Given the description of an element on the screen output the (x, y) to click on. 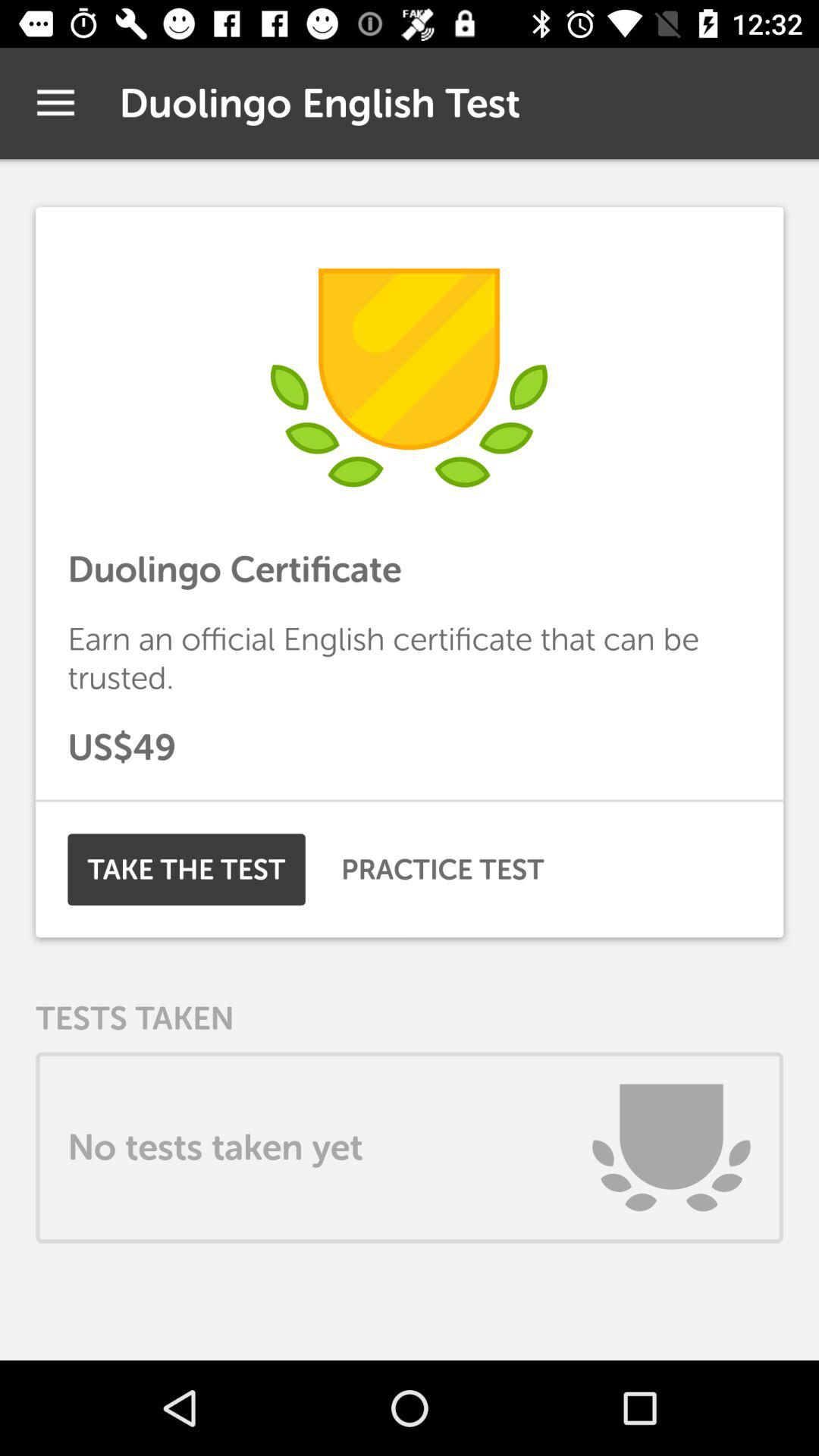
click the item on the left (186, 869)
